Given the description of an element on the screen output the (x, y) to click on. 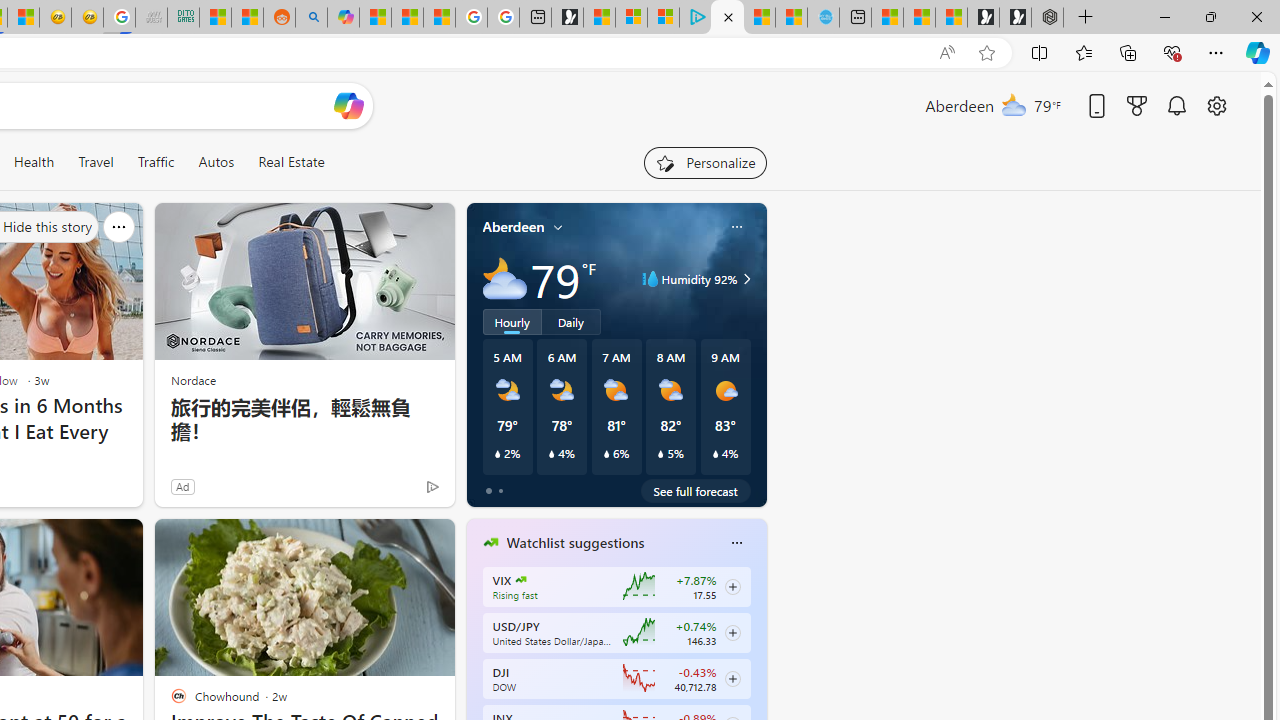
Microsoft rewards (1137, 105)
Microsoft account | Privacy (663, 17)
Autos (216, 162)
DITOGAMES AG Imprint (182, 17)
Split screen (1039, 52)
See full forecast (695, 490)
Add this page to favorites (Ctrl+D) (986, 53)
